Given the description of an element on the screen output the (x, y) to click on. 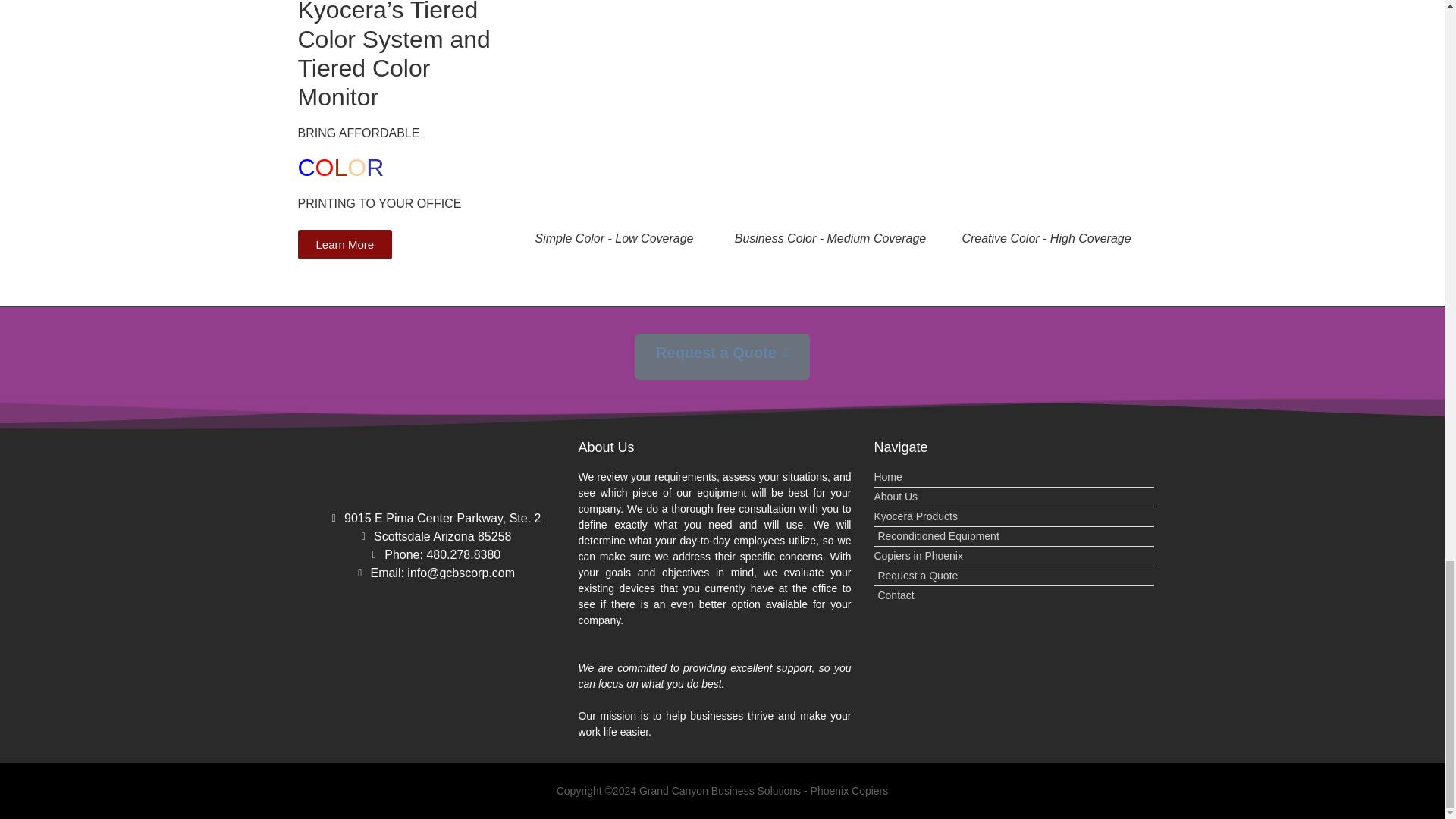
Copiers in Phoenix (1013, 555)
Scottsdale Arizona 85258 (433, 536)
About Us (1013, 496)
Contact (1013, 595)
Learn More (344, 244)
Request a Quote (1013, 575)
Reconditioned Equipment (1013, 536)
Phone: 480.278.8380 (433, 555)
9015 E Pima Center Parkway, Ste. 2 (433, 518)
Request a Quote (721, 356)
